Given the description of an element on the screen output the (x, y) to click on. 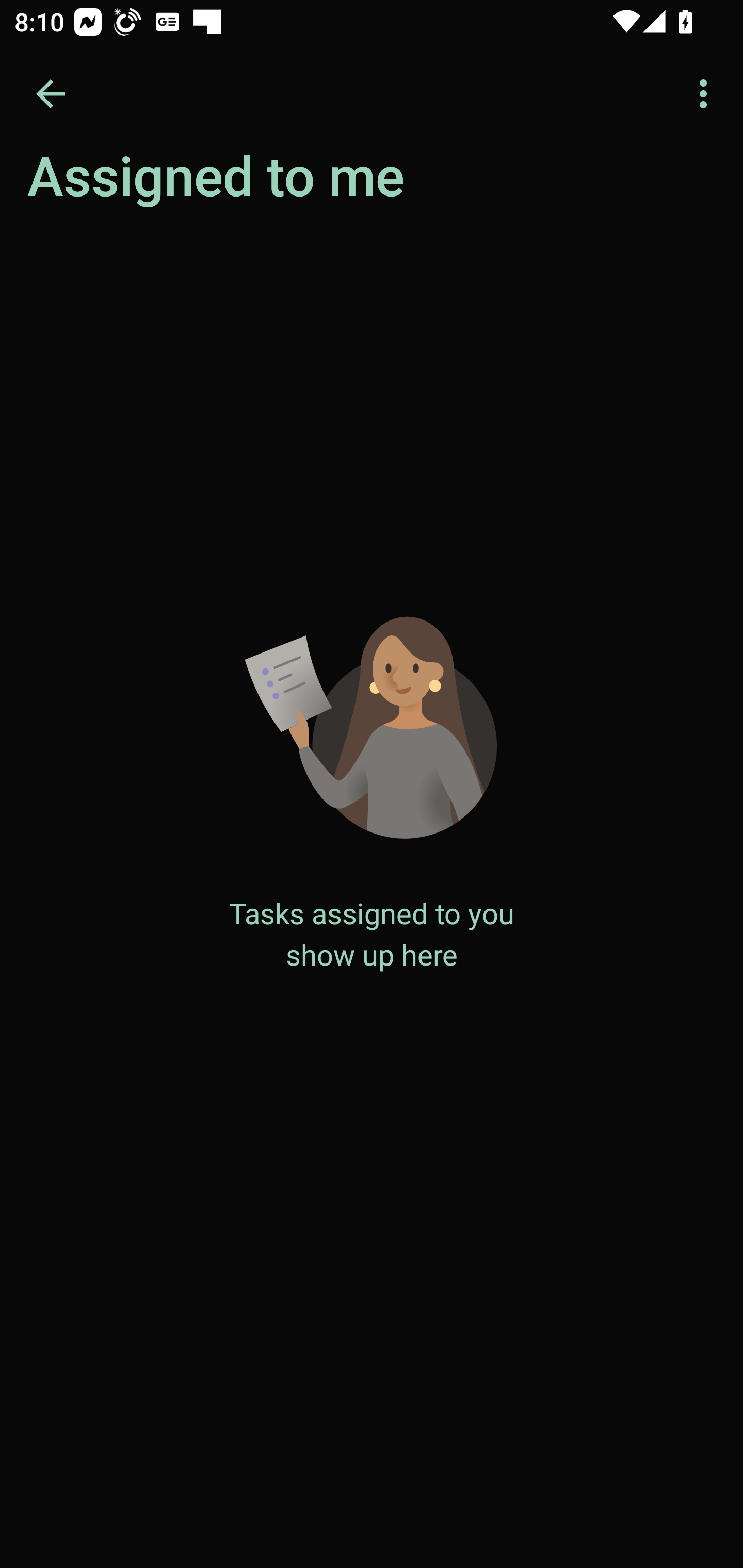
Back (50, 93)
More options (706, 93)
